Given the description of an element on the screen output the (x, y) to click on. 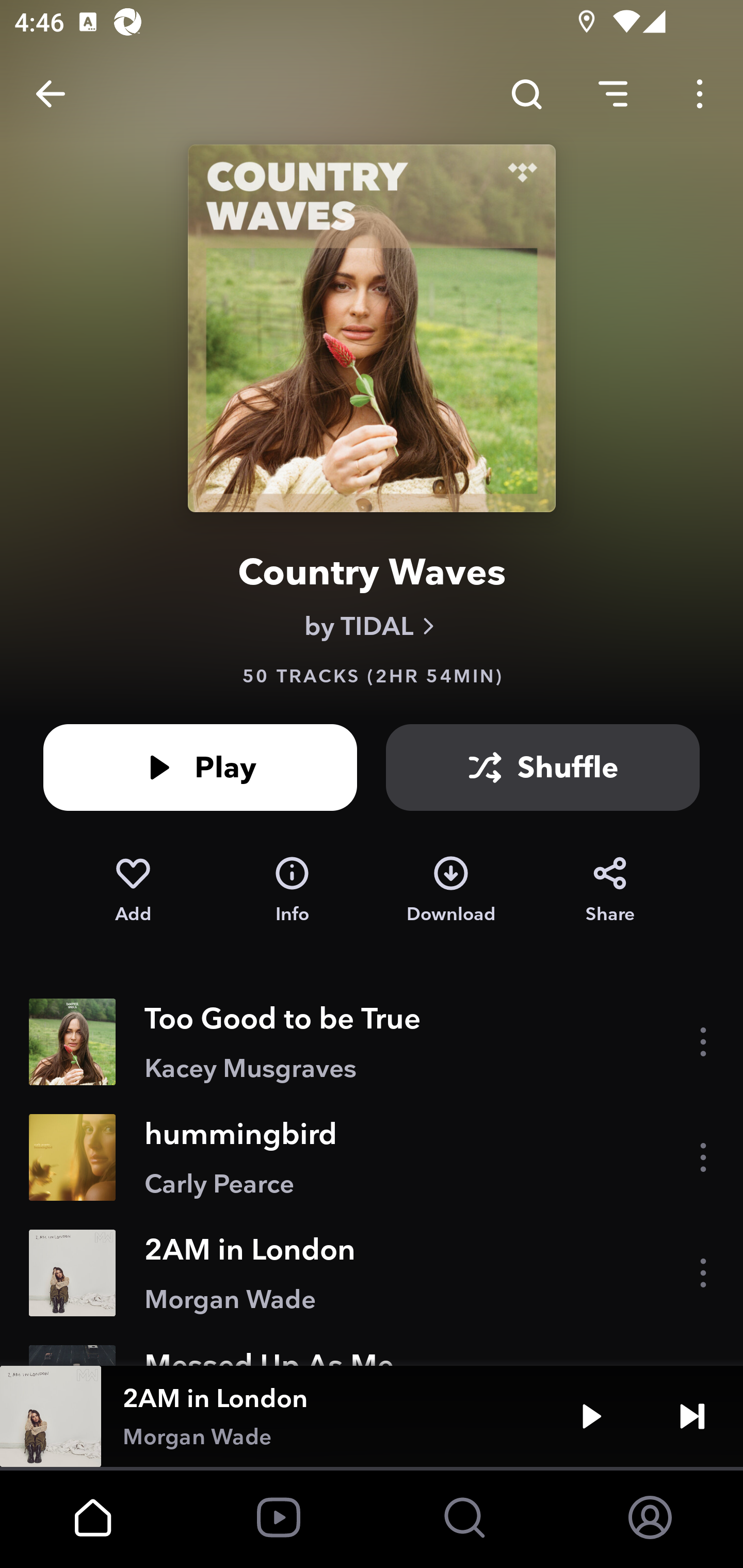
Back (50, 93)
Search (525, 93)
Sorting (612, 93)
Options (699, 93)
by TIDAL (371, 625)
Play (200, 767)
Shuffle (542, 767)
Add (132, 890)
Info (291, 890)
Download (450, 890)
Share (609, 890)
Too Good to be True Kacey Musgraves (371, 1041)
hummingbird Carly Pearce (371, 1157)
2AM in London Morgan Wade (371, 1273)
2AM in London Morgan Wade Play (371, 1416)
Play (590, 1416)
